Given the description of an element on the screen output the (x, y) to click on. 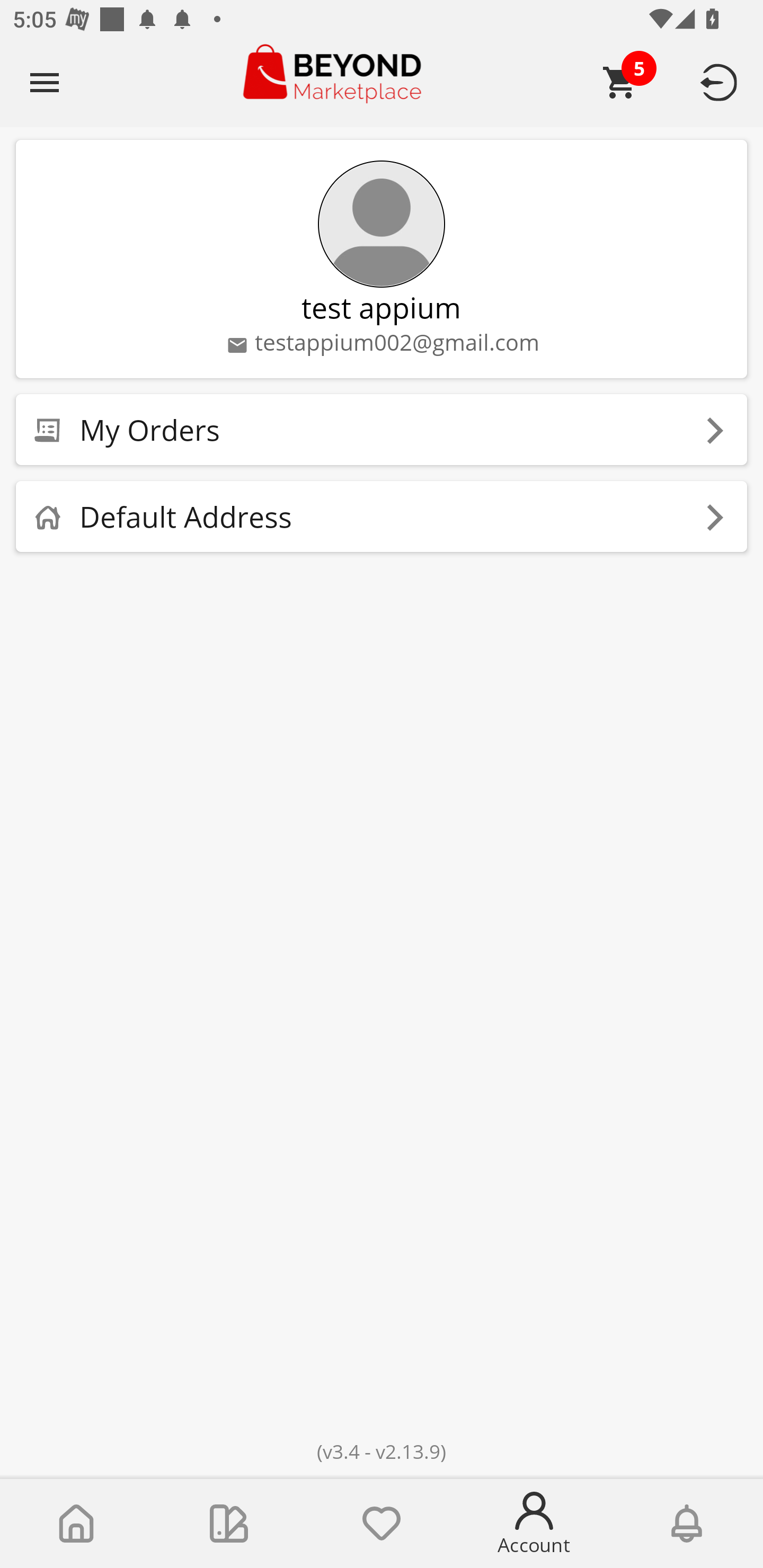
Navigate up (44, 82)
LOGOUT (721, 81)
Home (76, 1523)
Collections (228, 1523)
Wishlist (381, 1523)
Notifications (686, 1523)
